Given the description of an element on the screen output the (x, y) to click on. 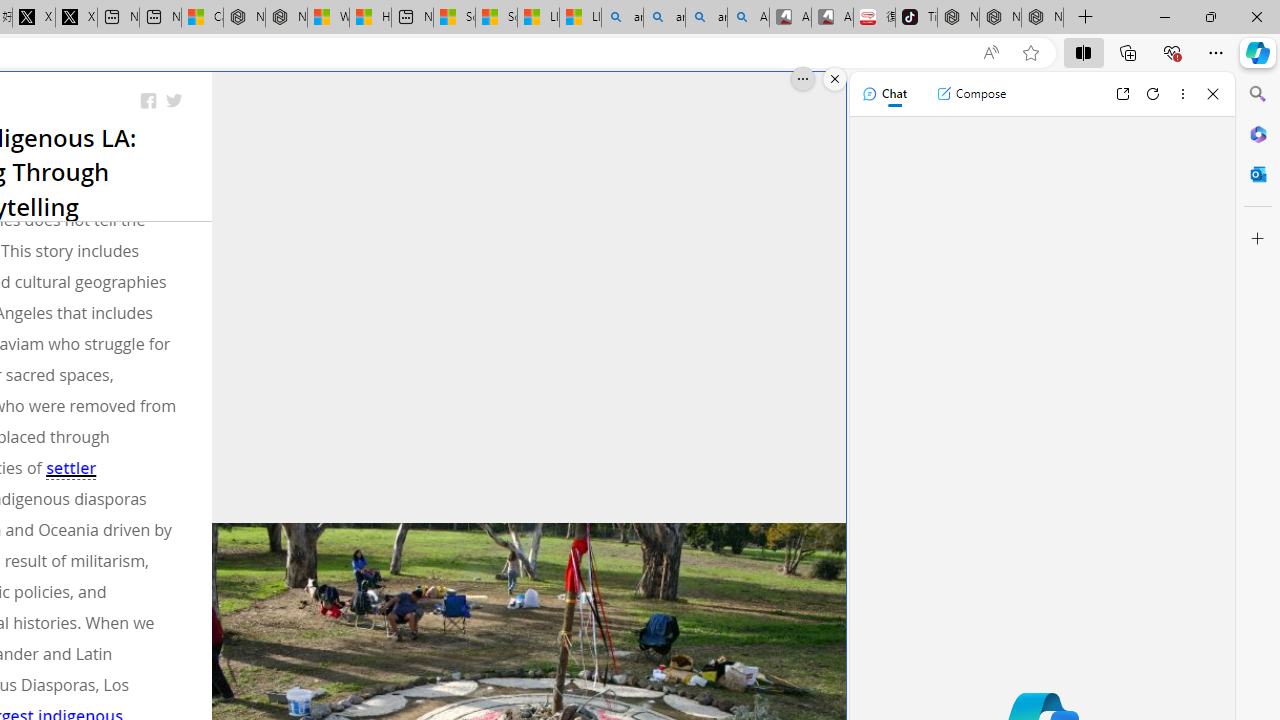
More options. (803, 79)
Amazon Echo Robot - Search Images (748, 17)
Open link in new tab (1122, 93)
Share on Twitter (174, 101)
TikTok (916, 17)
Customize (1258, 239)
